Given the description of an element on the screen output the (x, y) to click on. 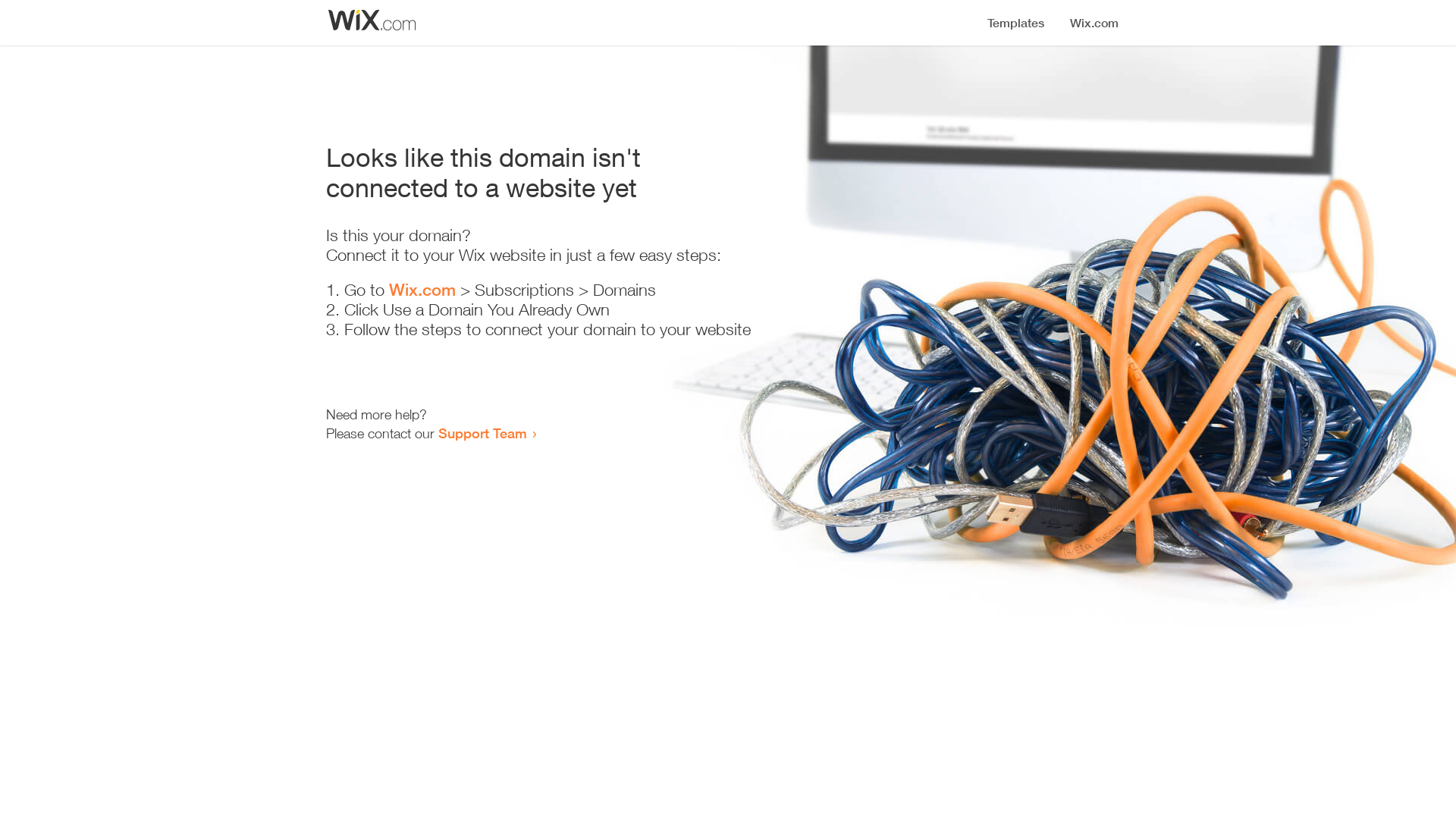
Wix.com Element type: text (422, 289)
Support Team Element type: text (482, 432)
